Given the description of an element on the screen output the (x, y) to click on. 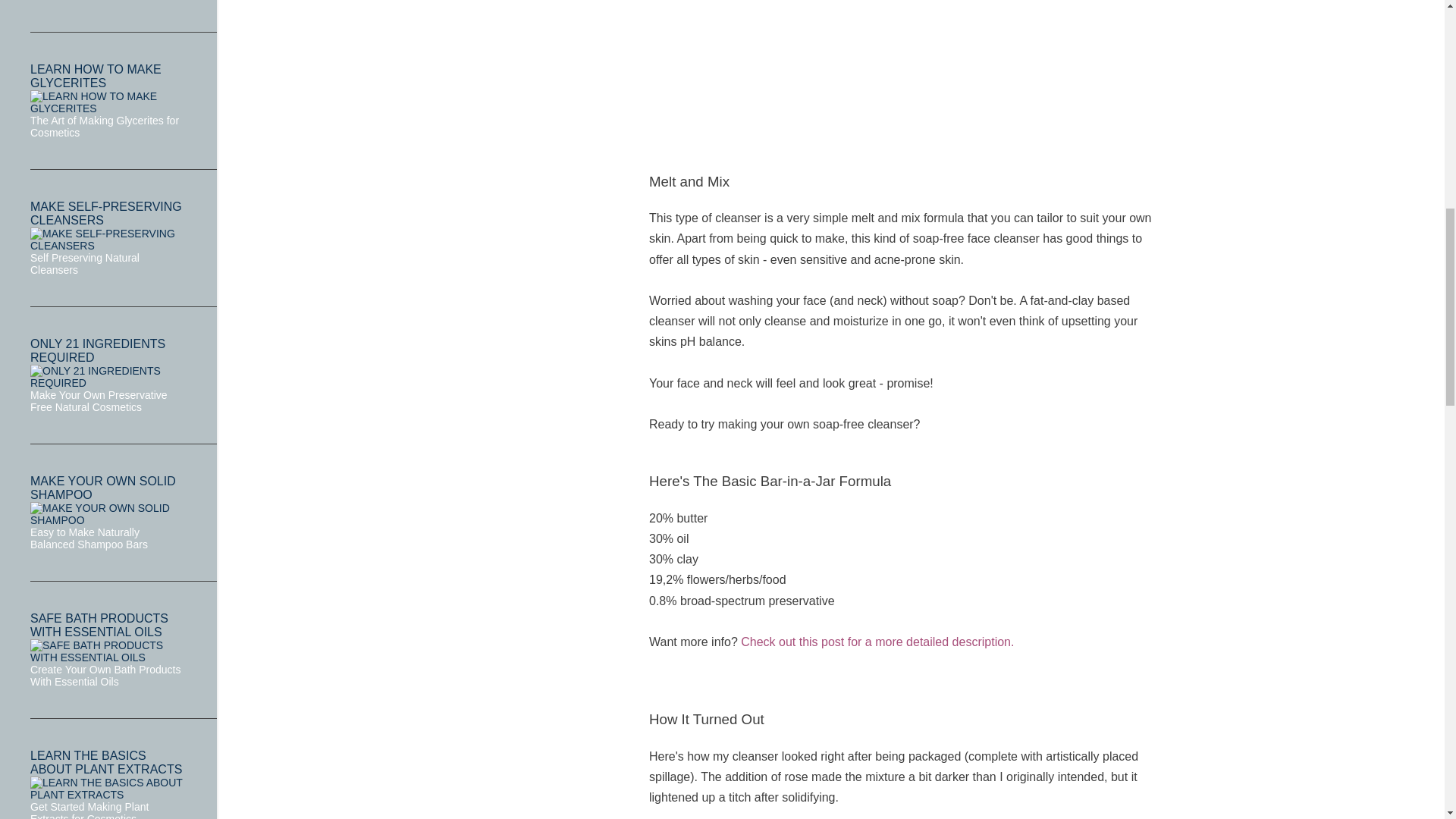
Check out this post for a more detailed description. (877, 641)
